Given the description of an element on the screen output the (x, y) to click on. 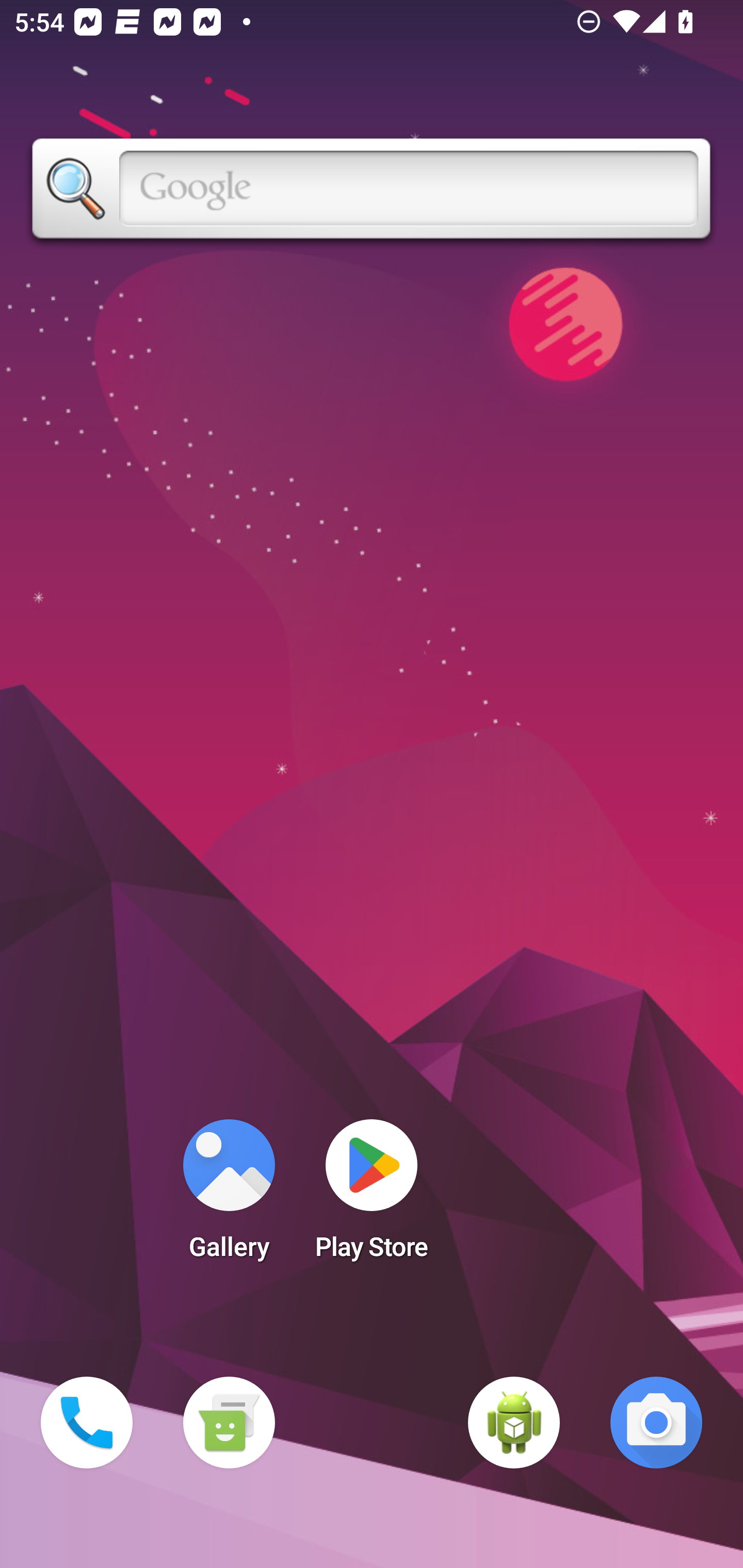
Gallery (228, 1195)
Play Store (371, 1195)
Phone (86, 1422)
Messaging (228, 1422)
WebView Browser Tester (513, 1422)
Camera (656, 1422)
